Given the description of an element on the screen output the (x, y) to click on. 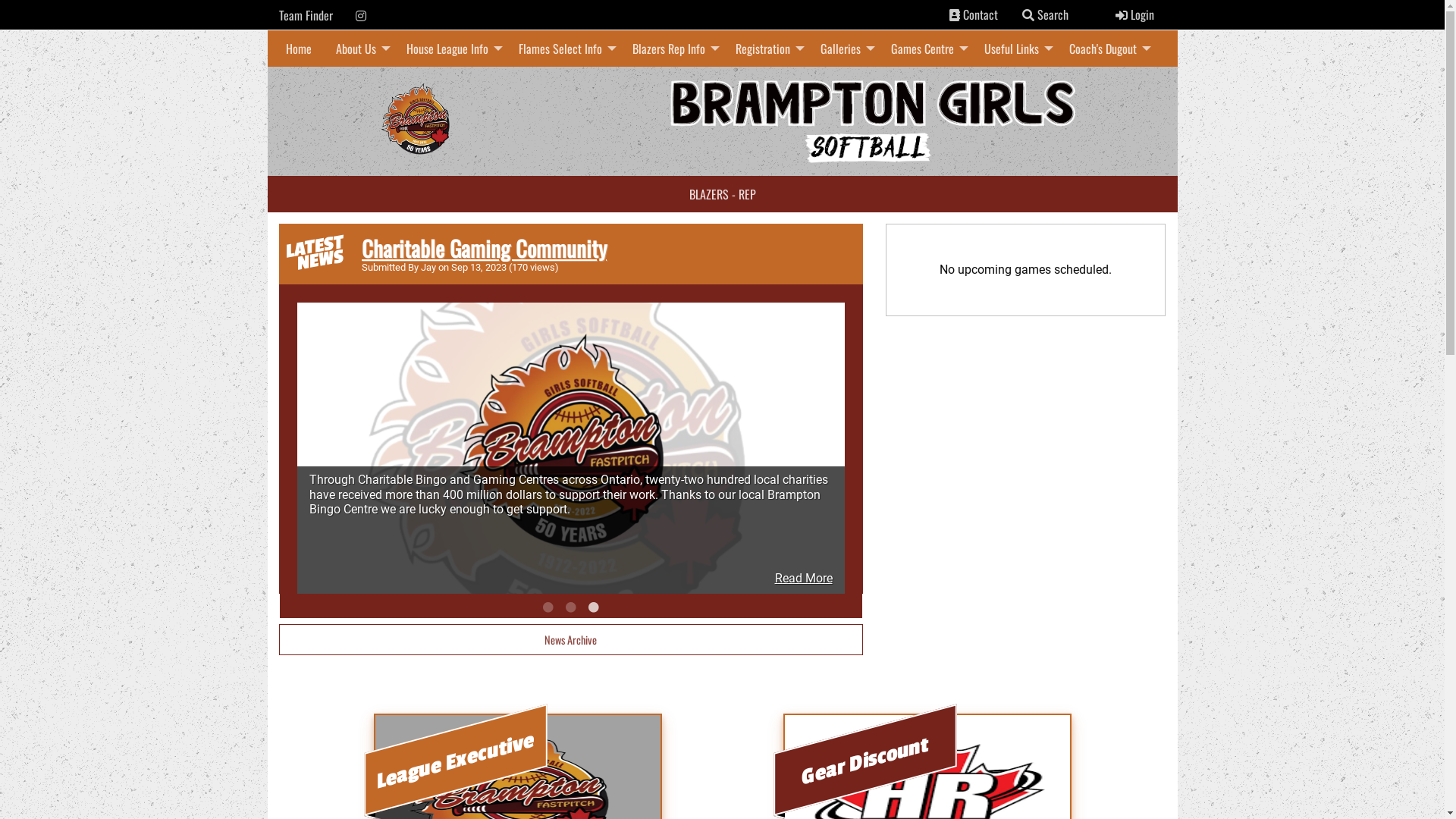
Home Element type: text (298, 48)
1 Element type: text (547, 607)
 Contact Element type: text (973, 14)
House League Info Element type: text (450, 48)
Games Centre Element type: text (924, 48)
News Archive Element type: text (570, 639)
 Login Element type: text (1133, 14)
 Search Element type: text (1045, 14)
Registration Element type: text (765, 48)
Blazers Rep Info Element type: text (671, 48)
Galleries Element type: text (843, 48)
Flames Select Info Element type: text (563, 48)
BRAMPTON BLAST 2024! Element type: text (461, 247)
Coach's Dugout Element type: text (1105, 48)
BLAZERS - REP Element type: text (721, 193)
Search Element type: hover (1028, 15)
3 Element type: text (592, 607)
Team Finder Element type: text (305, 15)
About Us Element type: text (358, 48)
Useful Links Element type: text (1014, 48)
Contacts Element type: hover (954, 15)
Instagram Element type: hover (359, 15)
2 Element type: text (569, 607)
